Given the description of an element on the screen output the (x, y) to click on. 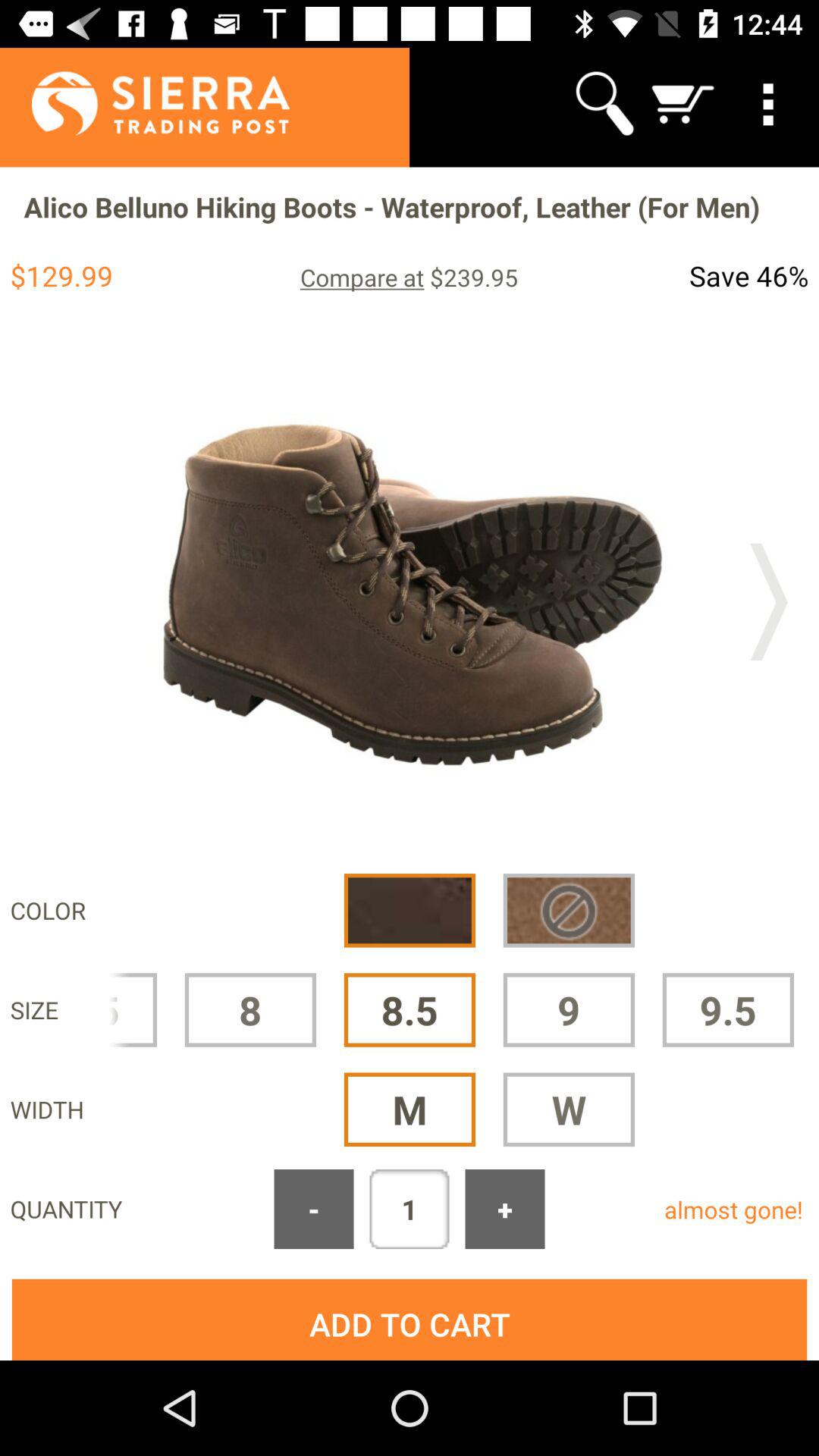
tap item to the left of save 46% (409, 276)
